Given the description of an element on the screen output the (x, y) to click on. 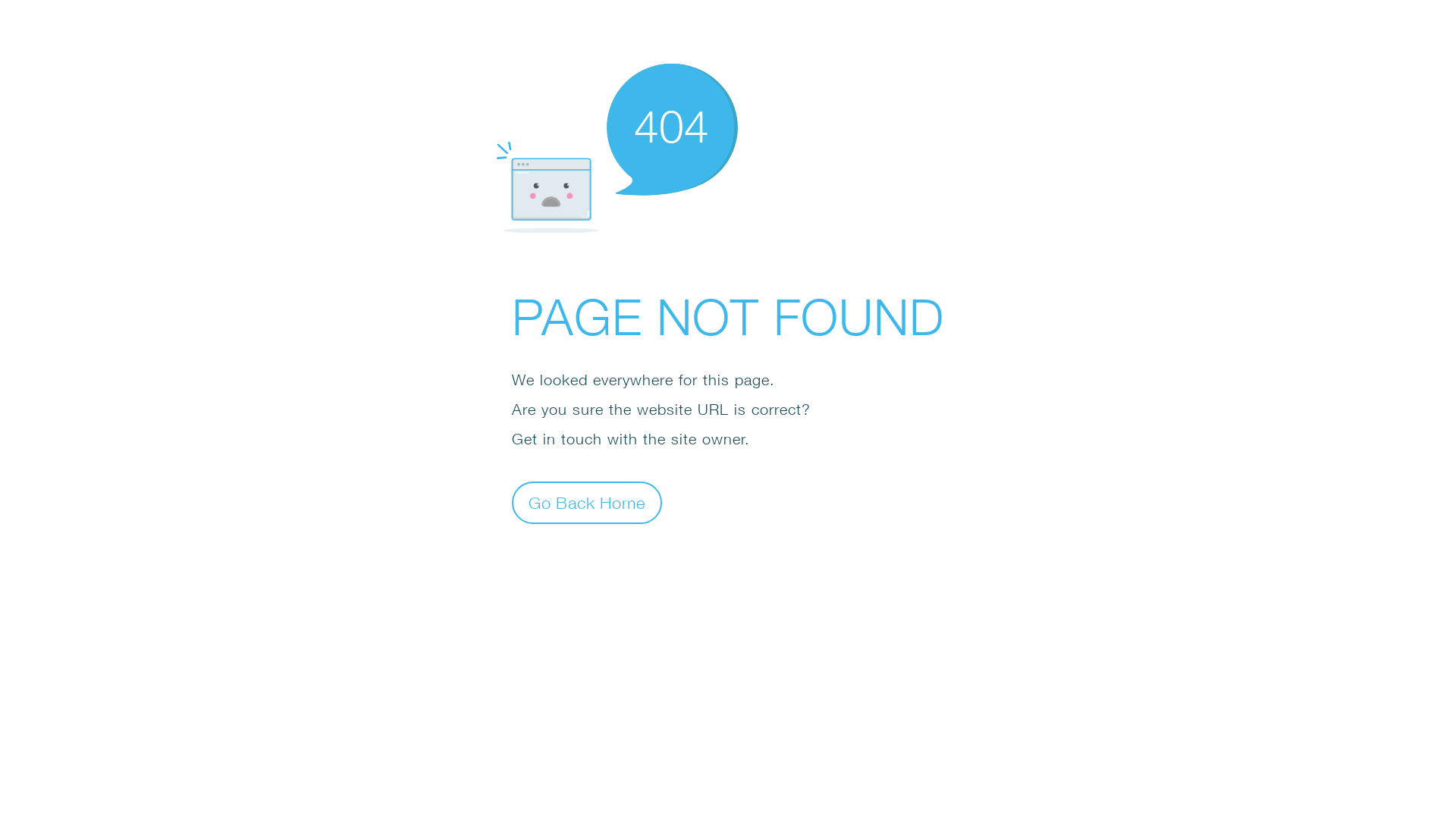
Go Back Home Element type: text (586, 502)
